Given the description of an element on the screen output the (x, y) to click on. 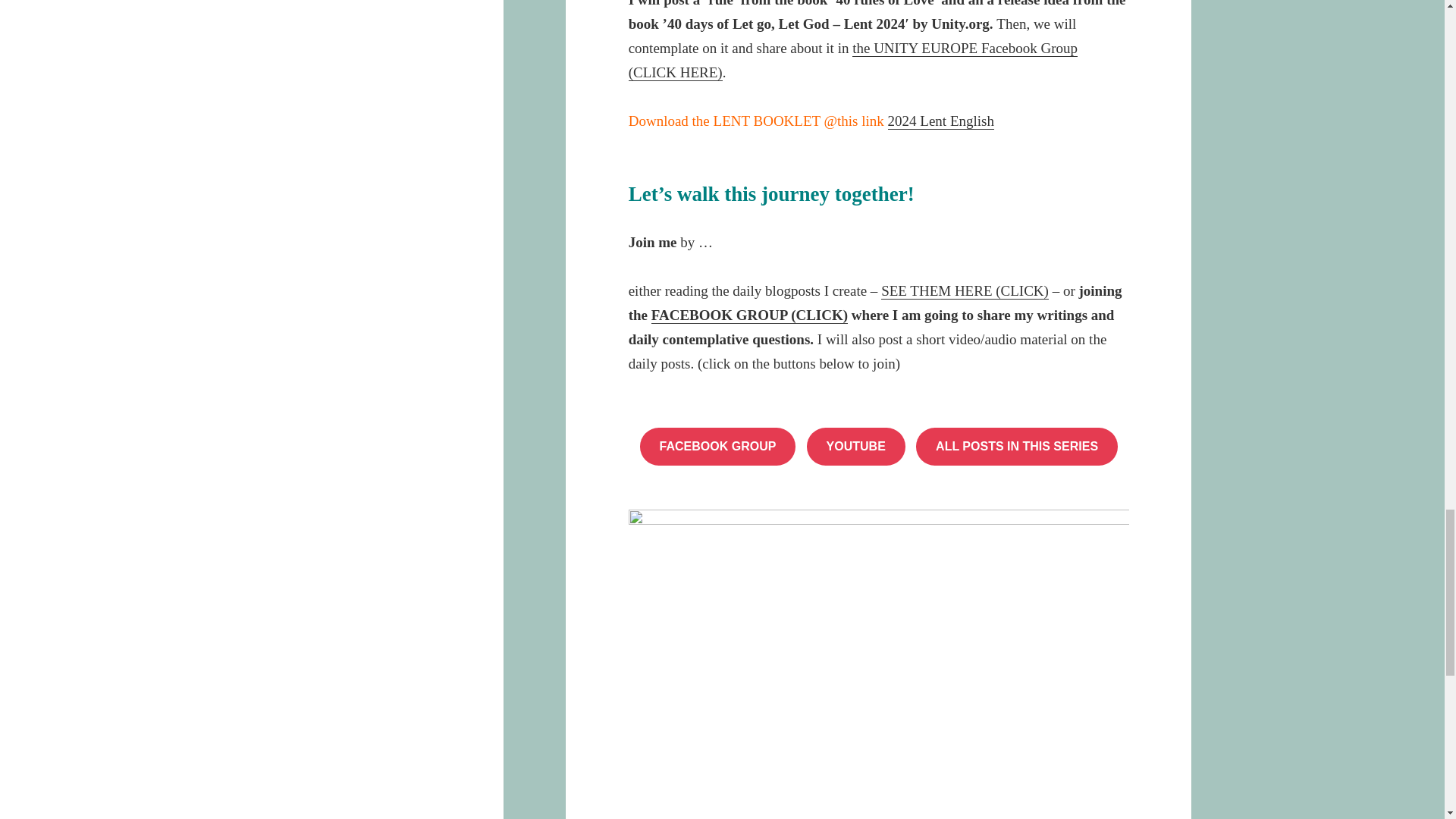
2024 Lent English (941, 121)
